Given the description of an element on the screen output the (x, y) to click on. 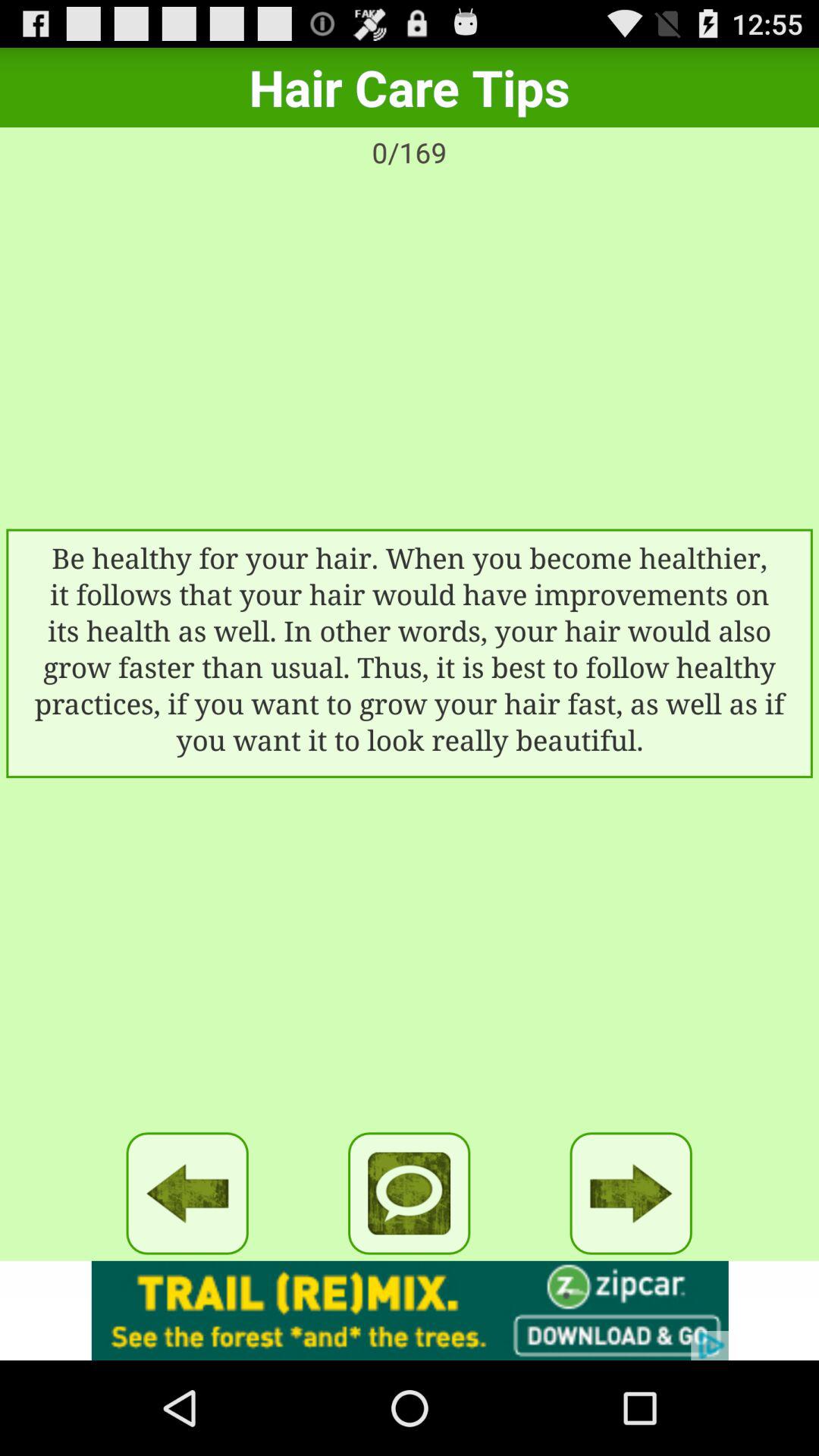
back word option (187, 1193)
